Given the description of an element on the screen output the (x, y) to click on. 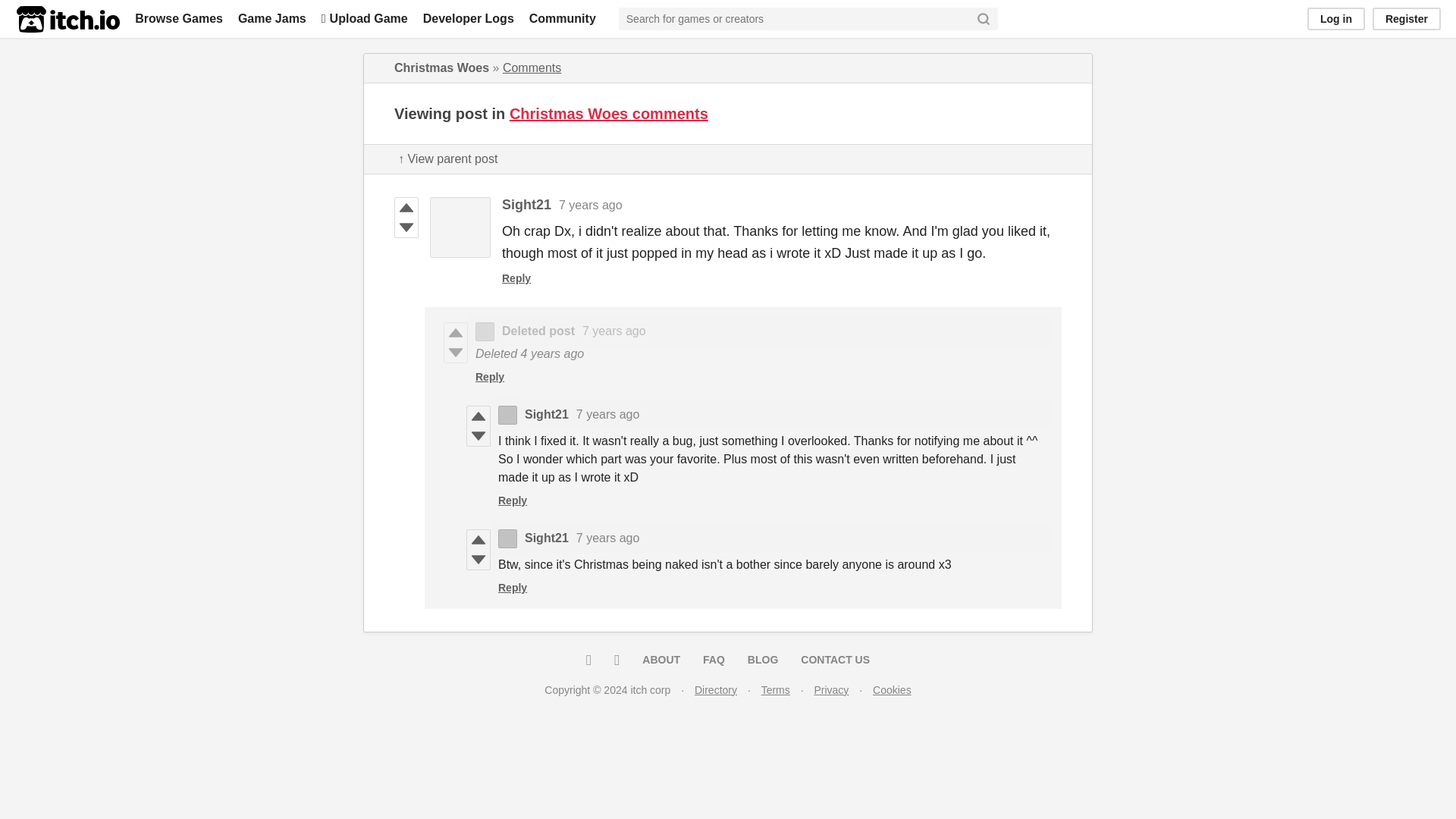
7 years ago (591, 205)
Vote up (455, 332)
Sight21 (526, 204)
Developer Logs (468, 18)
Register (1407, 18)
itch.io (67, 18)
Reply (512, 500)
2017-01-17 19:33:01 (608, 413)
Upload Game (364, 18)
7 years ago (614, 330)
Vote down (478, 559)
Vote up (478, 415)
Comments (531, 67)
Vote down (478, 435)
itch.io - indie game hosting marketplace (67, 18)
